Given the description of an element on the screen output the (x, y) to click on. 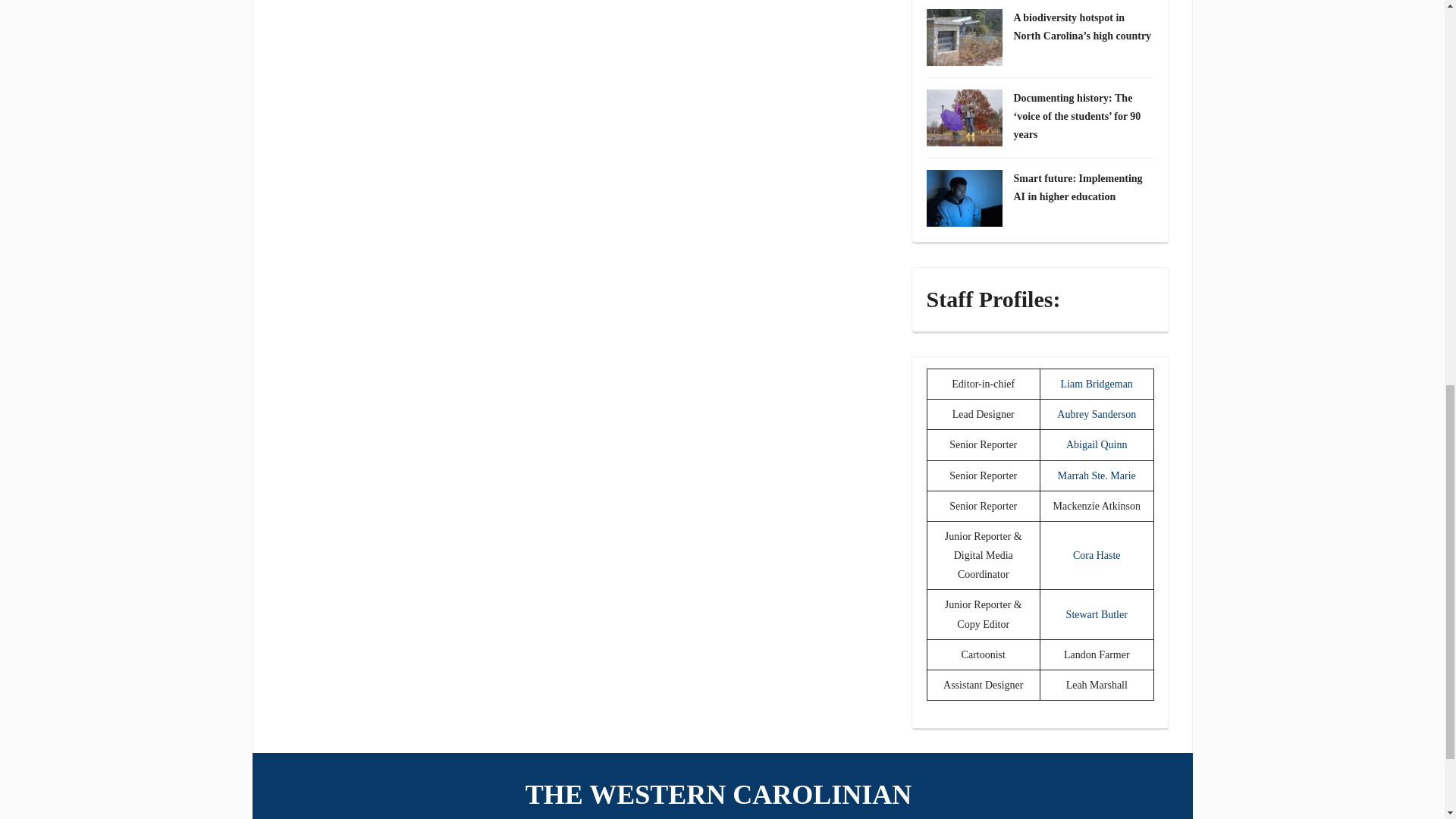
Western Carolina University's source for student-led news. (721, 794)
